Given the description of an element on the screen output the (x, y) to click on. 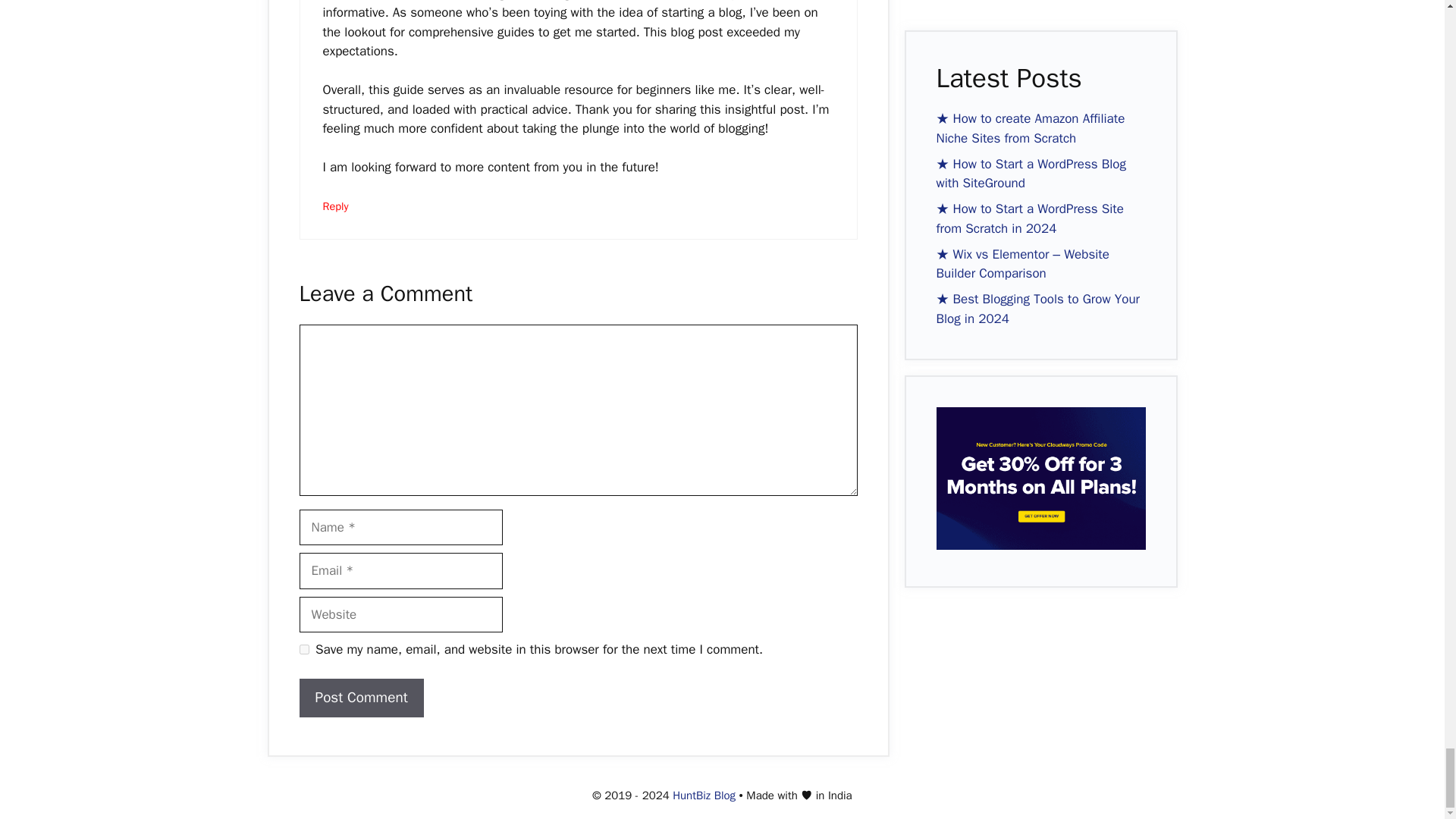
Post Comment (360, 697)
yes (303, 649)
Reply (336, 205)
HuntBiz Blog (703, 795)
Post Comment (360, 697)
